Given the description of an element on the screen output the (x, y) to click on. 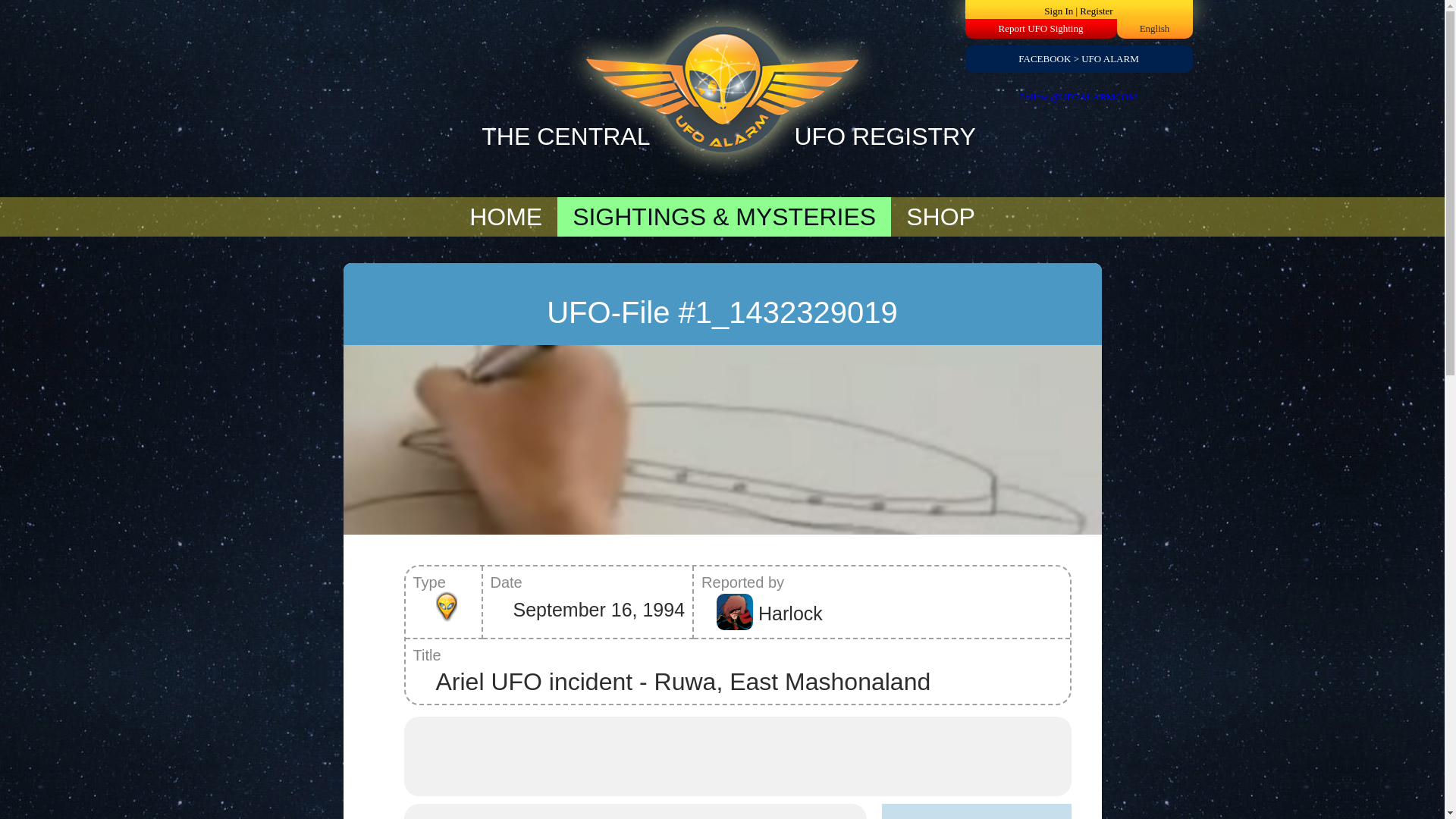
HOME (505, 216)
SHOP (940, 216)
English (1155, 28)
Advertisement (737, 754)
